Given the description of an element on the screen output the (x, y) to click on. 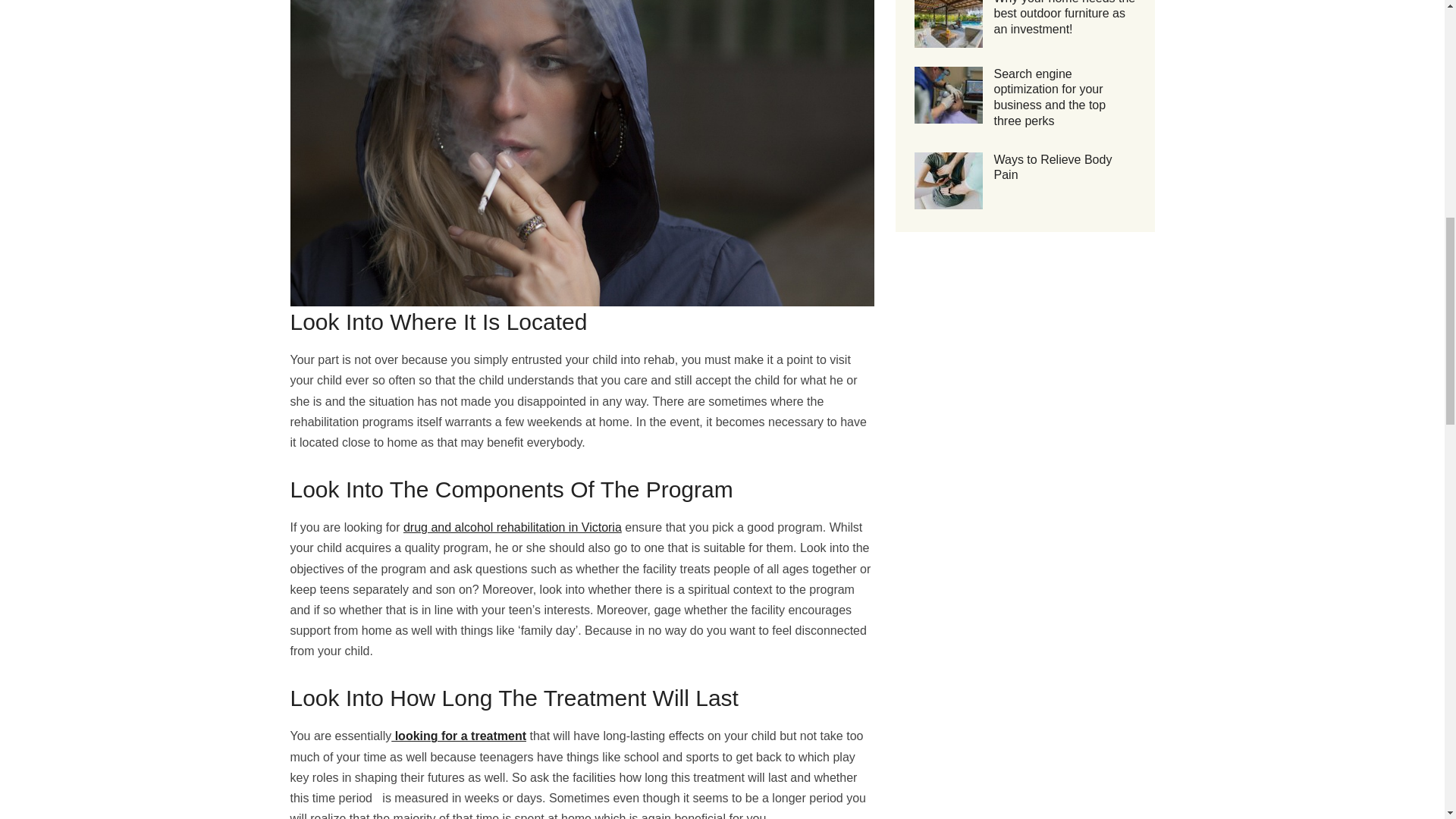
Ways to Relieve Body Pain (1052, 167)
looking for a treatment (458, 735)
drug and alcohol rehabilitation in Victoria (512, 526)
